Given the description of an element on the screen output the (x, y) to click on. 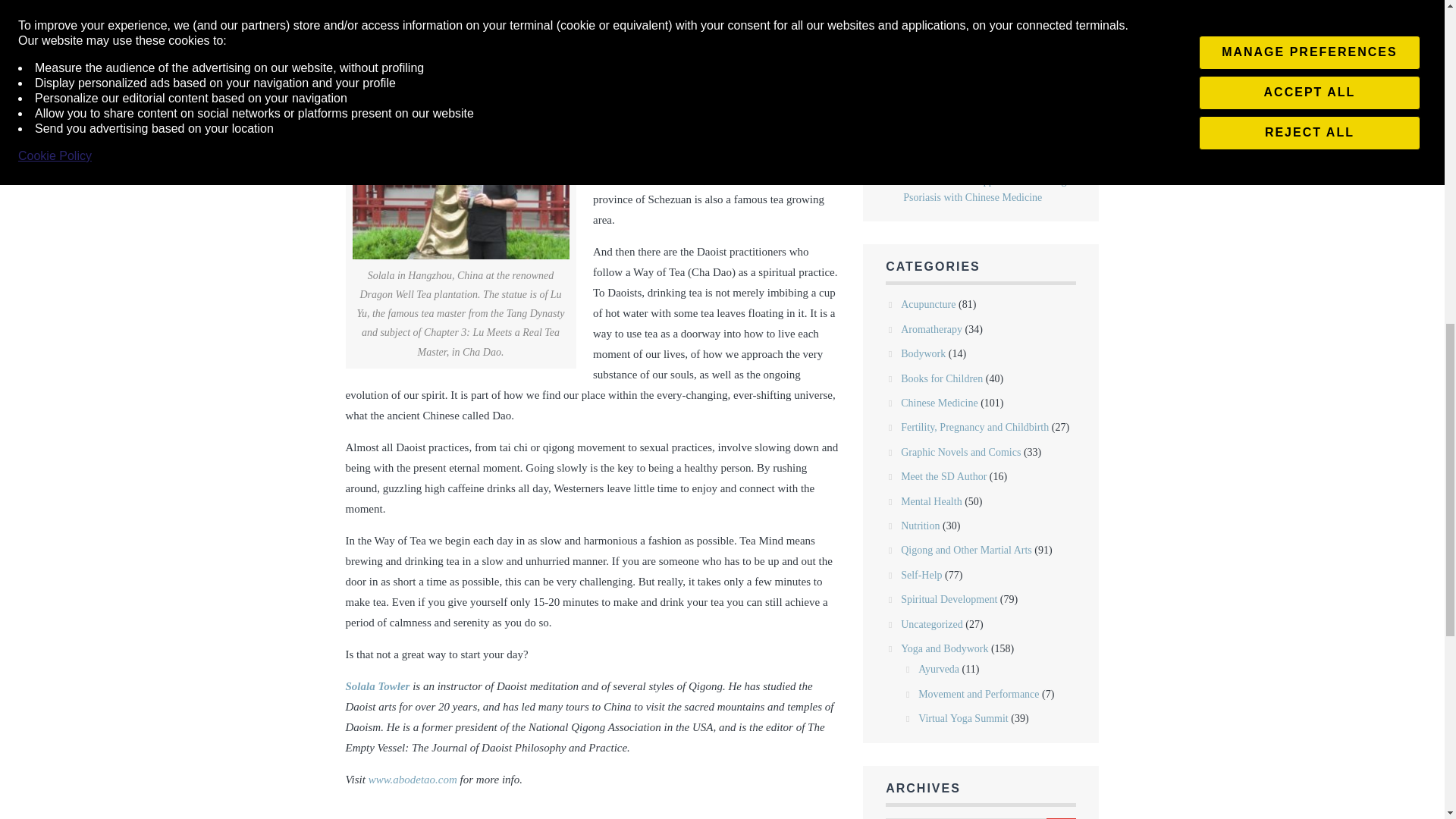
Solala Towler (378, 686)
www.abodetao.com (412, 779)
Solala Towler (460, 149)
